Given the description of an element on the screen output the (x, y) to click on. 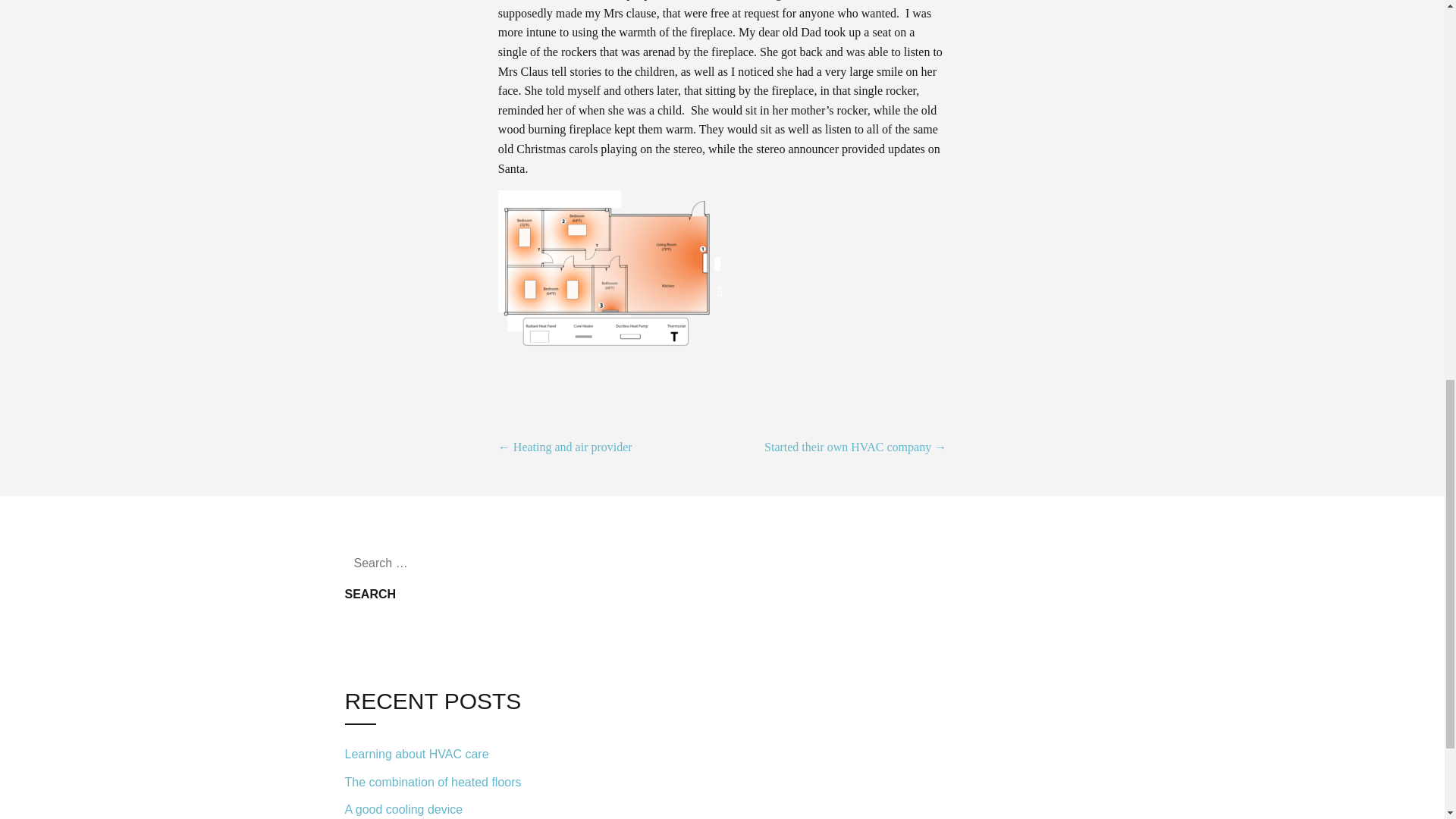
Search (369, 594)
A good cooling device (447, 807)
Search (369, 594)
The combination of heated floors (447, 782)
Learning about HVAC care (447, 754)
Search (369, 594)
